Given the description of an element on the screen output the (x, y) to click on. 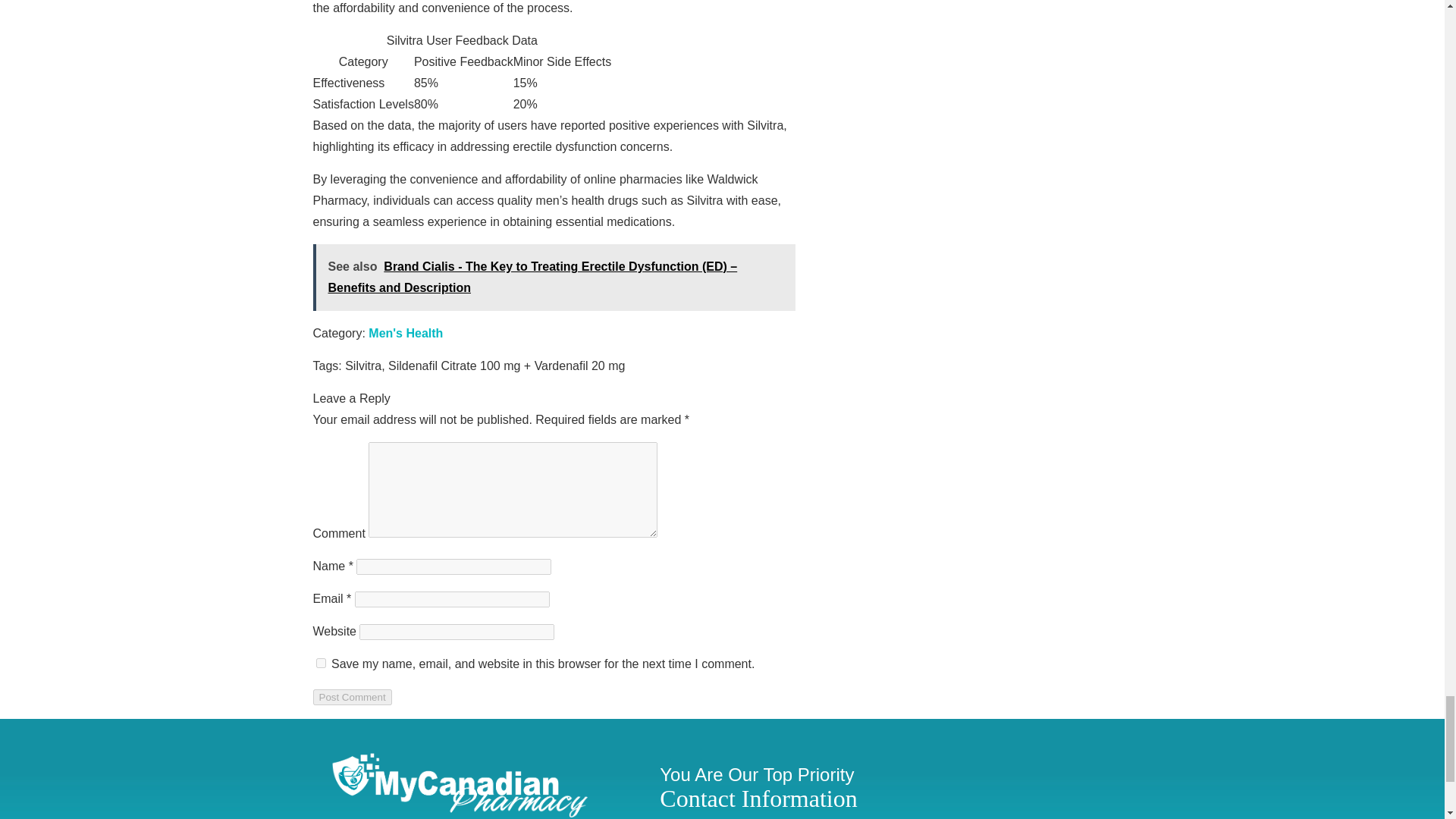
Men's Health (405, 332)
Post Comment (352, 697)
Post Comment (352, 697)
yes (319, 663)
